Given the description of an element on the screen output the (x, y) to click on. 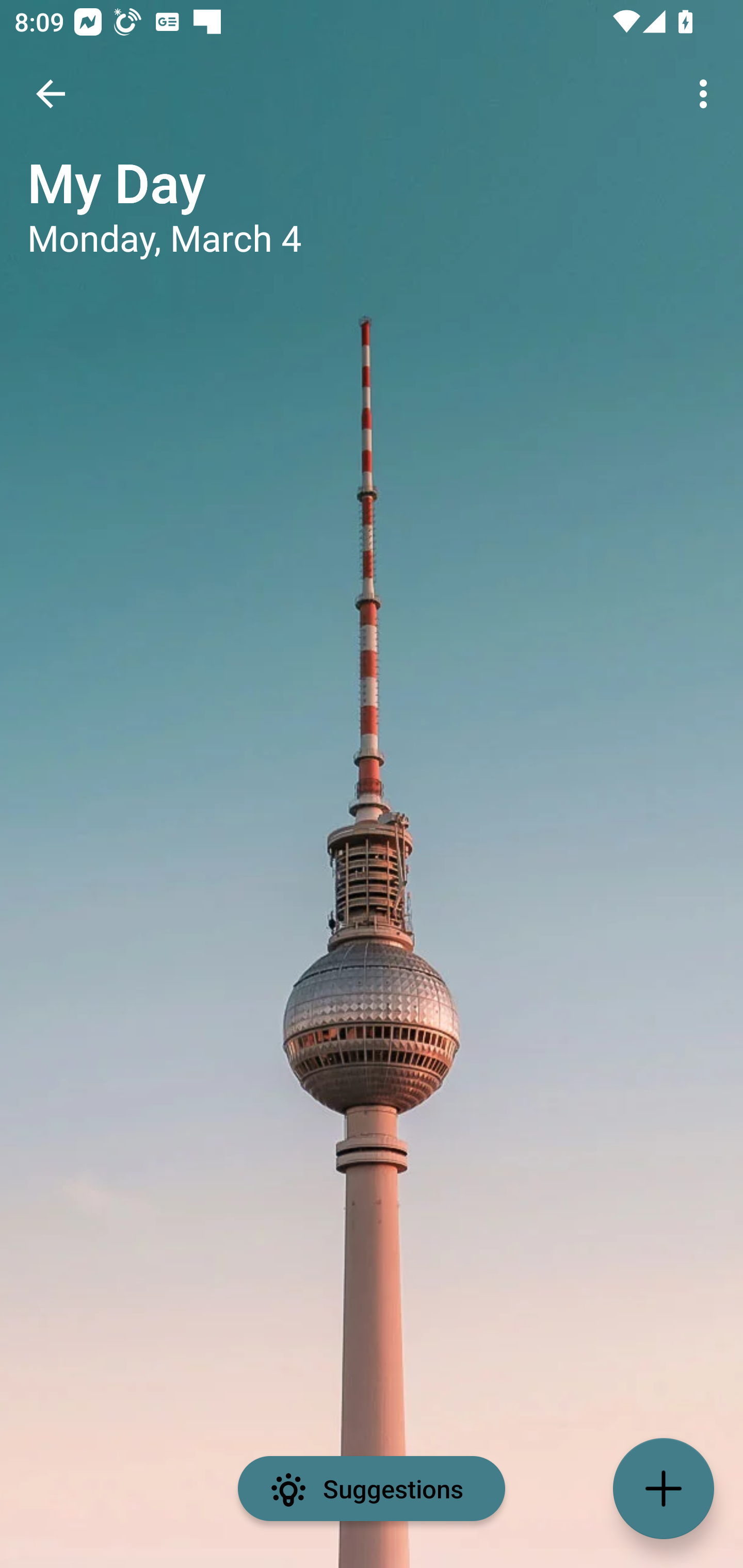
Back (50, 93)
Add a task (663, 1488)
Suggestions (371, 1488)
